Given the description of an element on the screen output the (x, y) to click on. 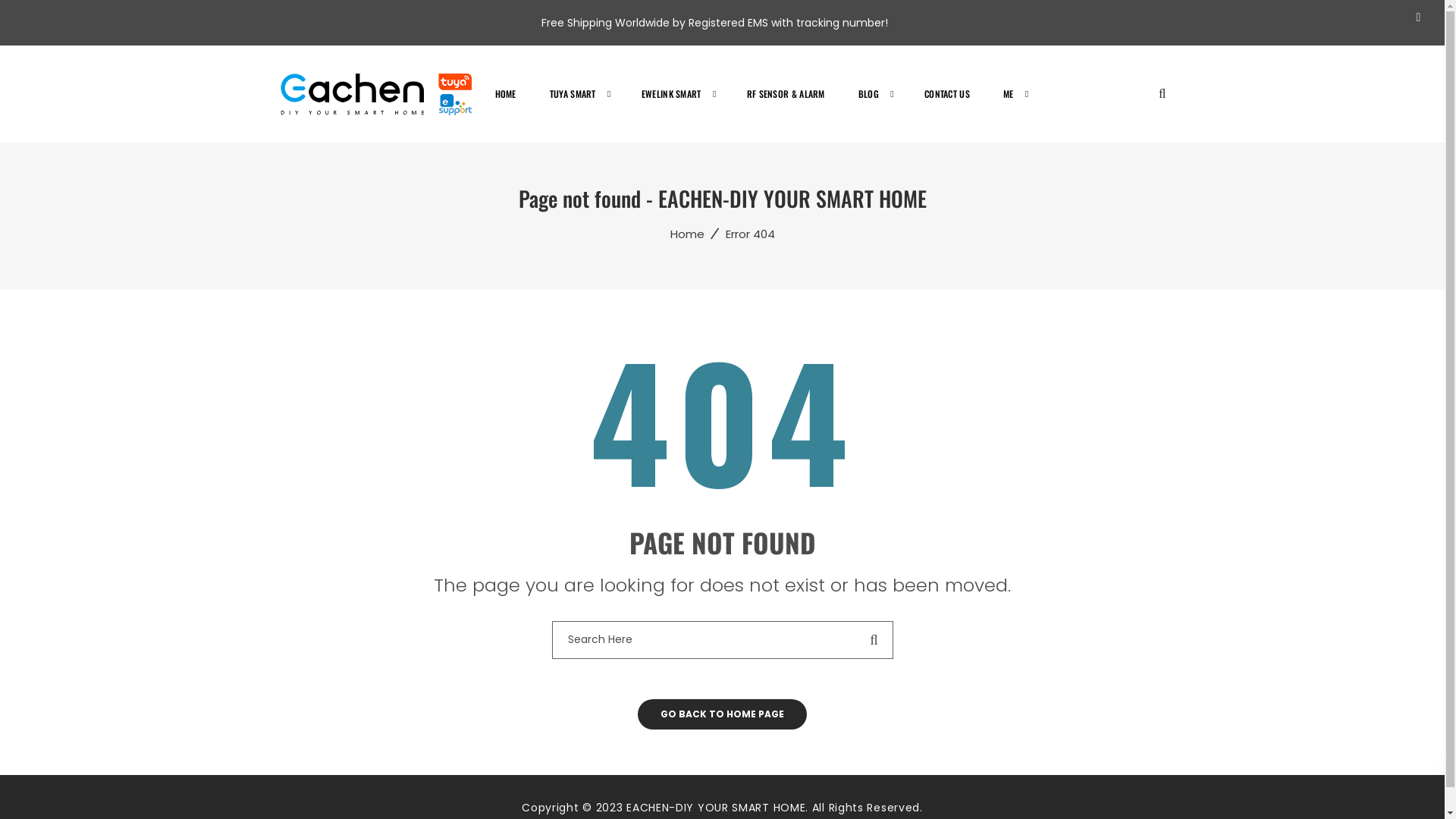
TUYA SMART Element type: text (572, 93)
CONTACT US Element type: text (947, 93)
HOME Element type: text (512, 93)
EACHEN-DIY YOUR SMART HOME Element type: hover (381, 92)
EWELINK SMART Element type: text (671, 93)
ME Element type: text (1008, 93)
BLOG Element type: text (868, 93)
Home Element type: text (687, 233)
RF SENSOR & ALARM Element type: text (785, 93)
GO BACK TO HOME PAGE Element type: text (721, 714)
